Given the description of an element on the screen output the (x, y) to click on. 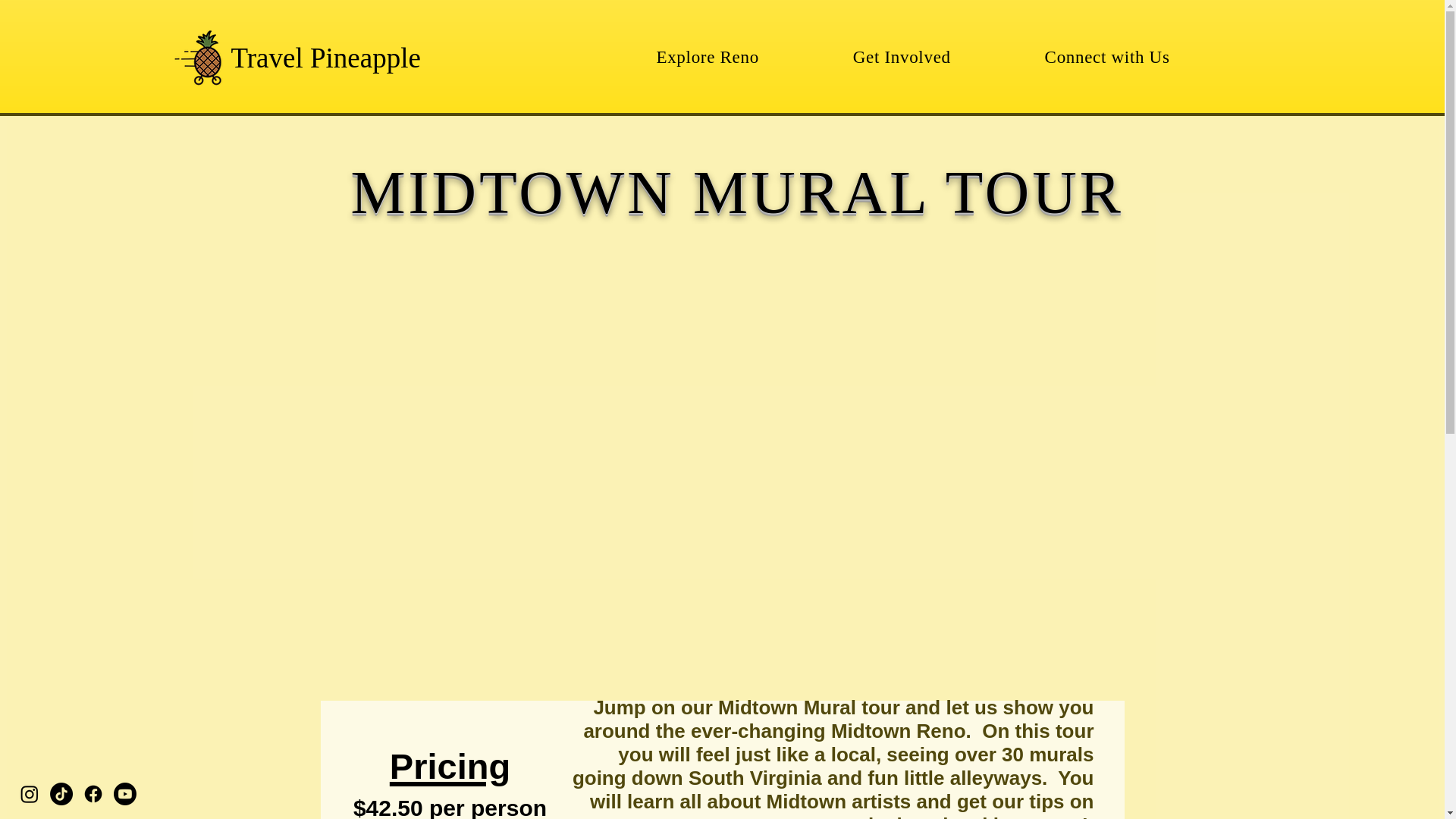
Travel Pineapple (325, 57)
Get Involved (901, 57)
Explore Reno (706, 57)
Connect with Us (1107, 57)
